Given the description of an element on the screen output the (x, y) to click on. 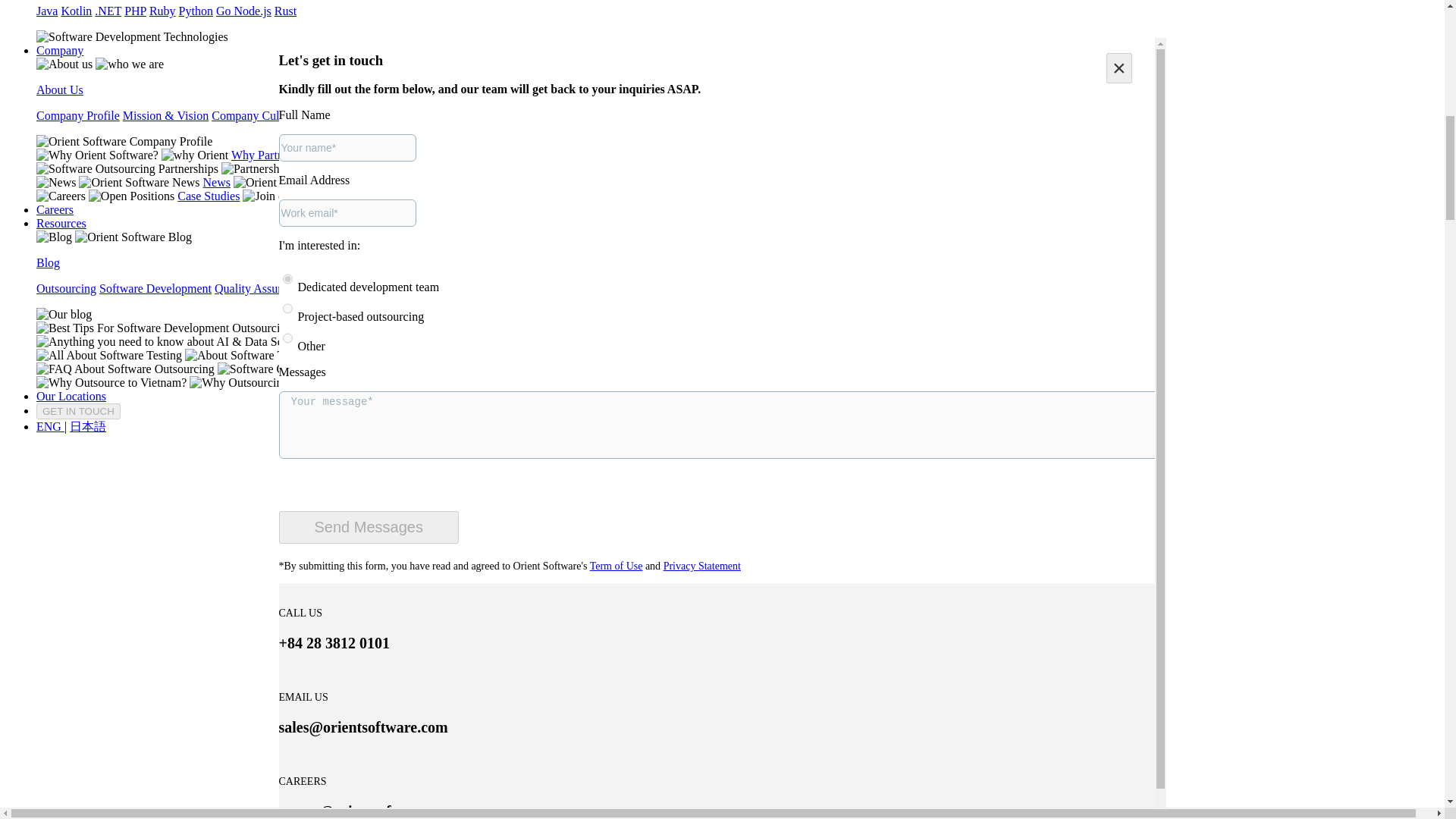
.NET (107, 10)
PHP (135, 10)
Kotlin (76, 10)
Java (47, 10)
